Given the description of an element on the screen output the (x, y) to click on. 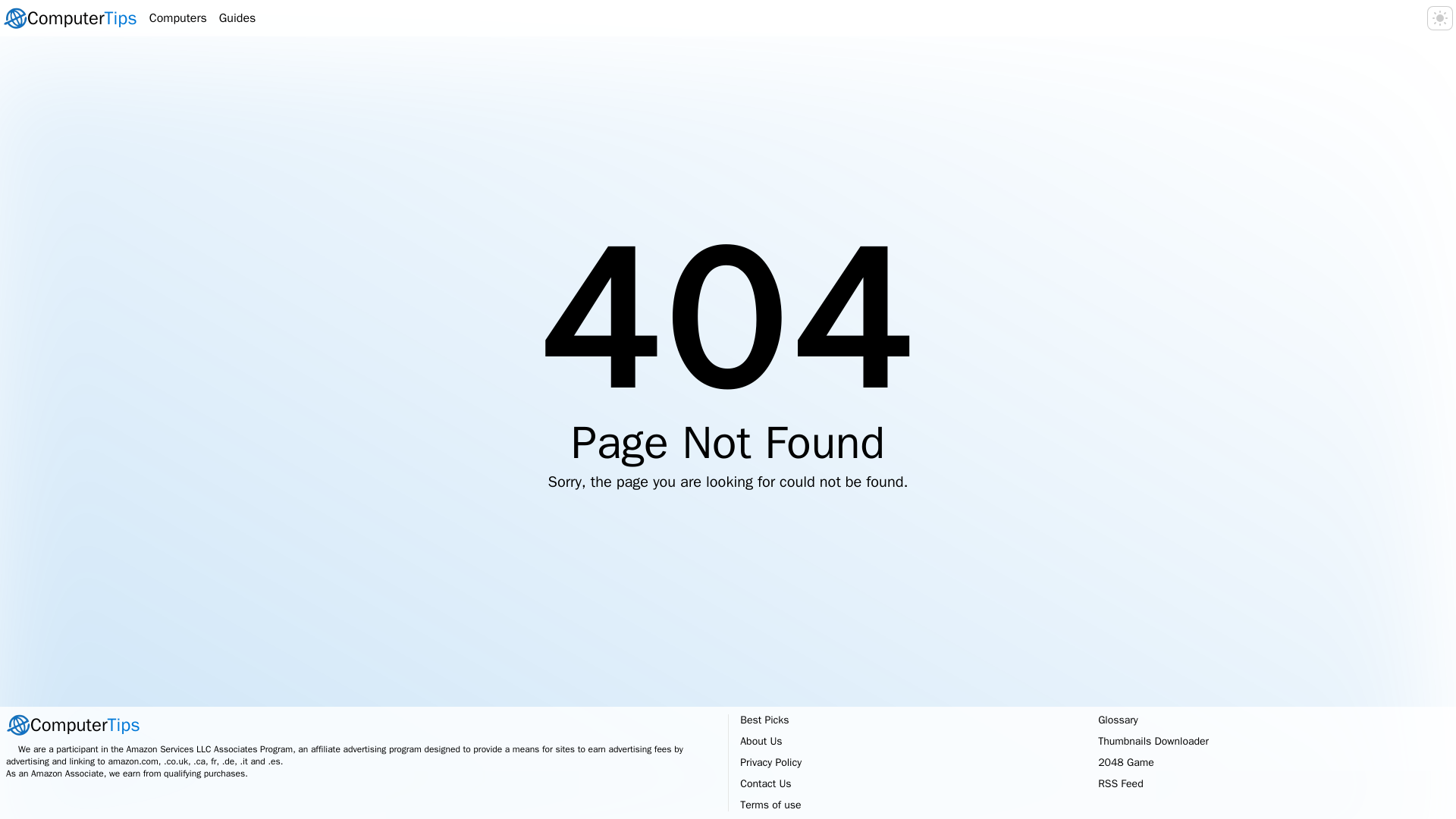
Thumbnails Downloader (1152, 740)
Guides (360, 724)
About Us (237, 18)
Computers (760, 740)
Glossary (177, 18)
Best Picks (1117, 719)
Privacy Policy (69, 17)
RSS Feed (764, 719)
